Given the description of an element on the screen output the (x, y) to click on. 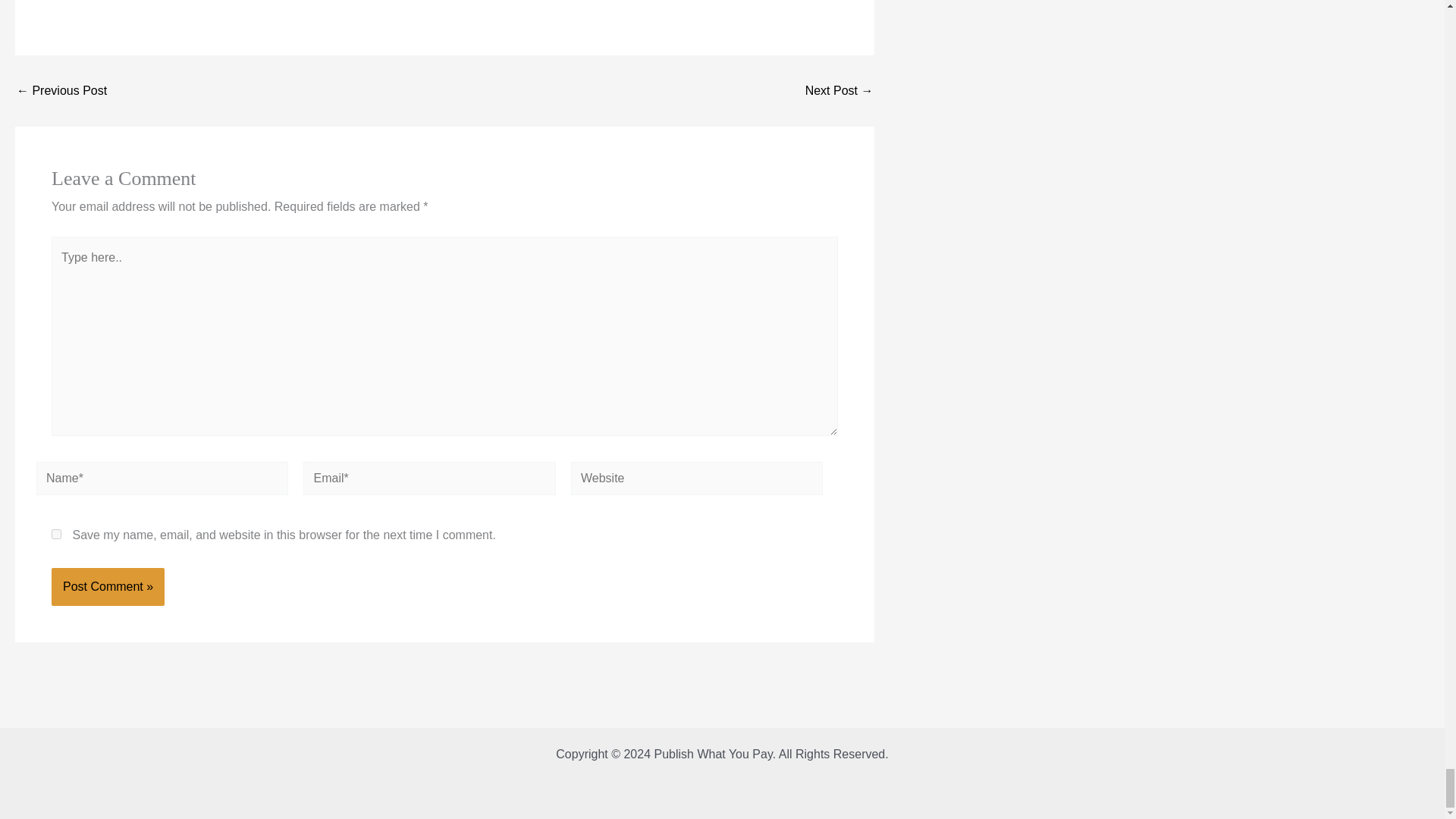
yes (55, 533)
